Given the description of an element on the screen output the (x, y) to click on. 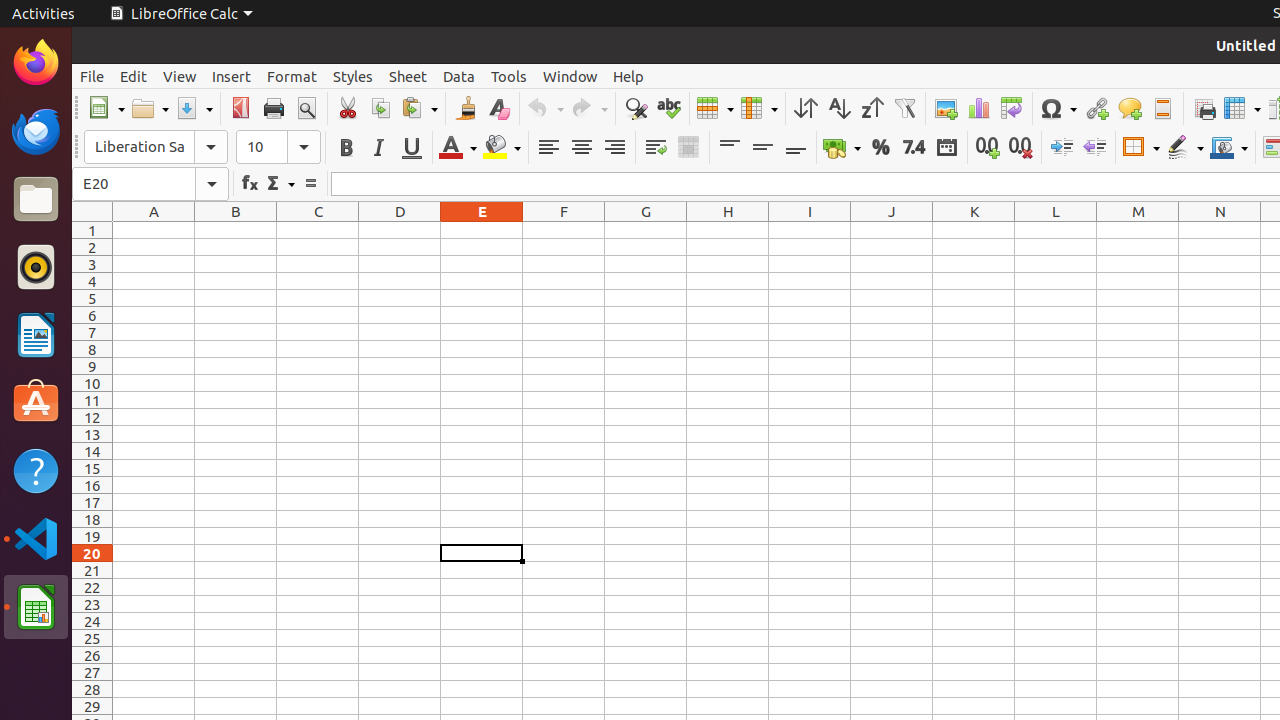
Rhythmbox Element type: push-button (36, 267)
Data Element type: menu (459, 76)
LibreOffice Calc Element type: push-button (36, 607)
Align Right Element type: push-button (614, 147)
G1 Element type: table-cell (646, 230)
